Given the description of an element on the screen output the (x, y) to click on. 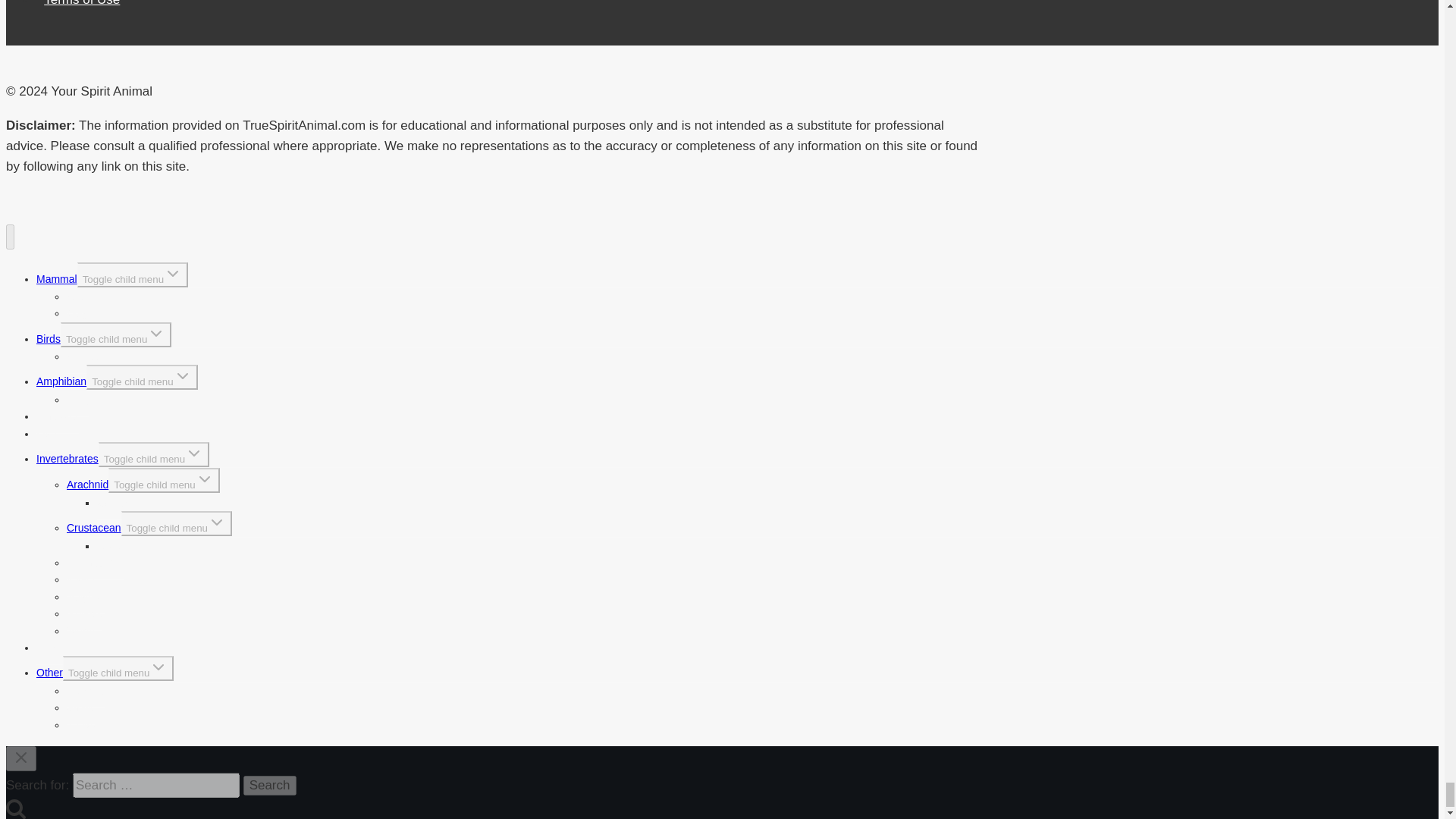
Search (270, 785)
Search (270, 785)
